Given the description of an element on the screen output the (x, y) to click on. 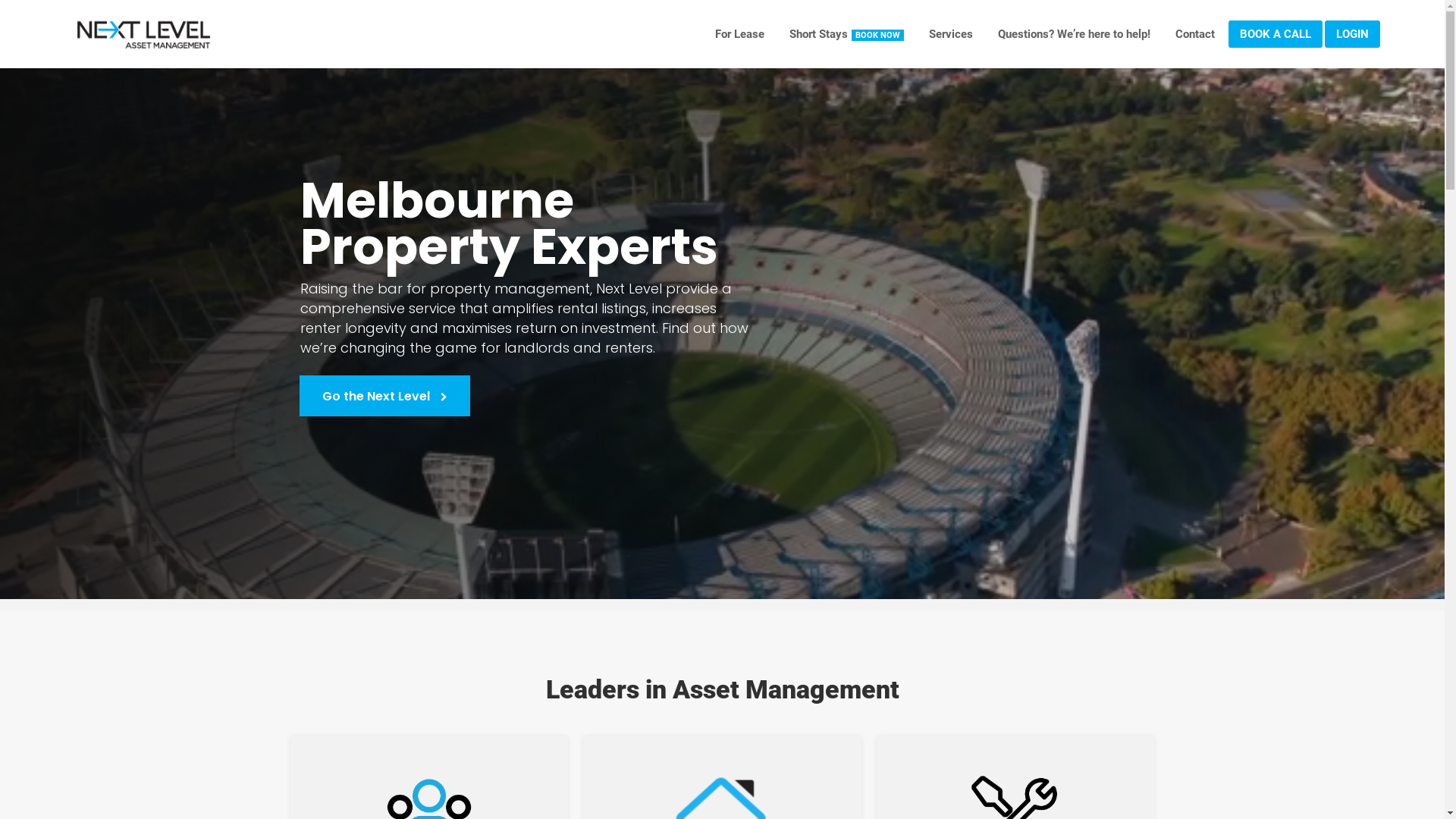
LOGIN Element type: text (1352, 33)
BOOK A CALL Element type: text (1275, 33)
For Lease Element type: text (739, 34)
Short StaysBOOK NOW Element type: text (846, 34)
Contact Element type: text (1195, 34)
Services Element type: text (950, 34)
